Given the description of an element on the screen output the (x, y) to click on. 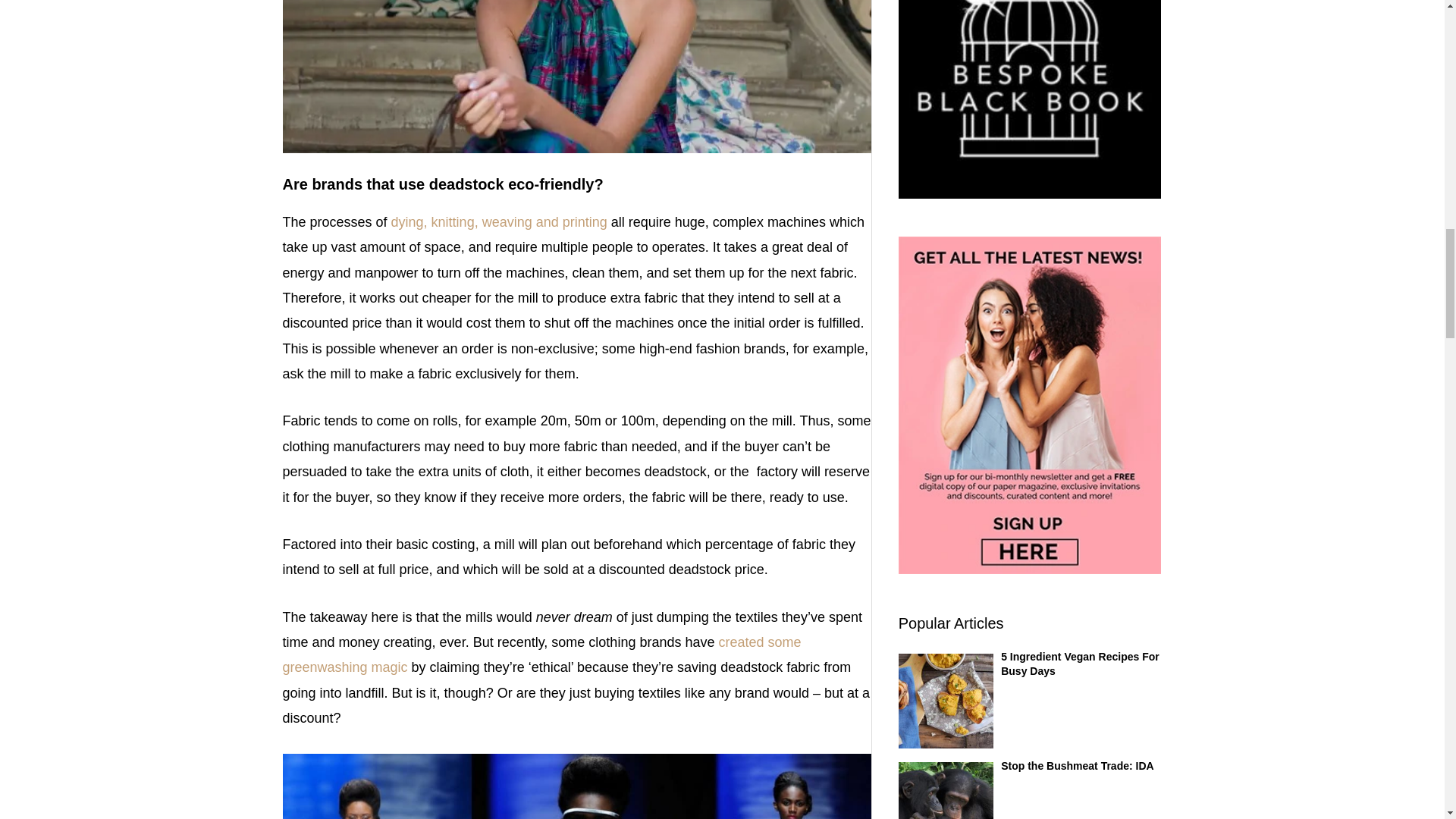
what is deadstock fabric (576, 786)
what is deadstock fabric (576, 76)
